Given the description of an element on the screen output the (x, y) to click on. 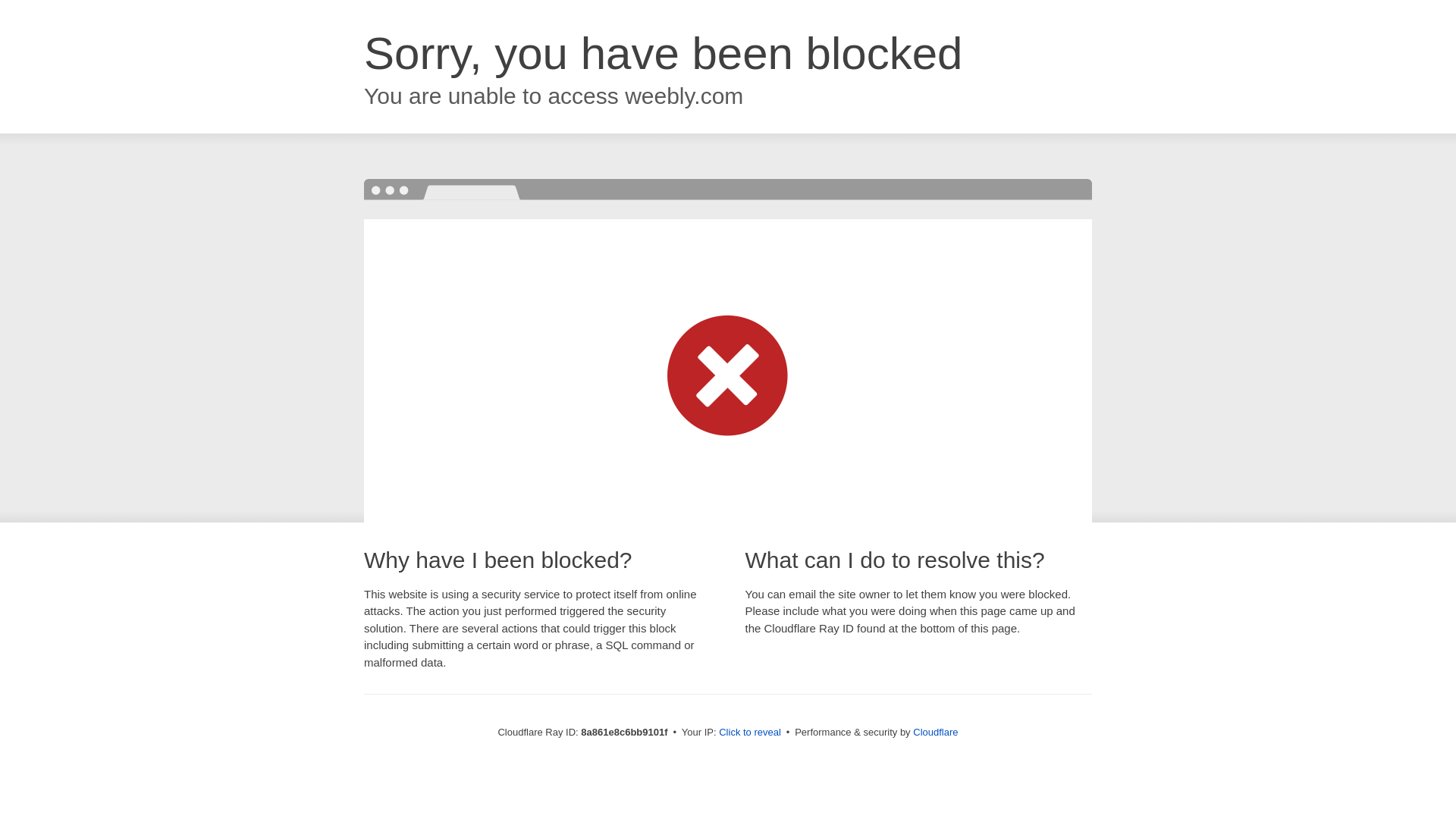
Click to reveal (749, 732)
Cloudflare (935, 731)
